Given the description of an element on the screen output the (x, y) to click on. 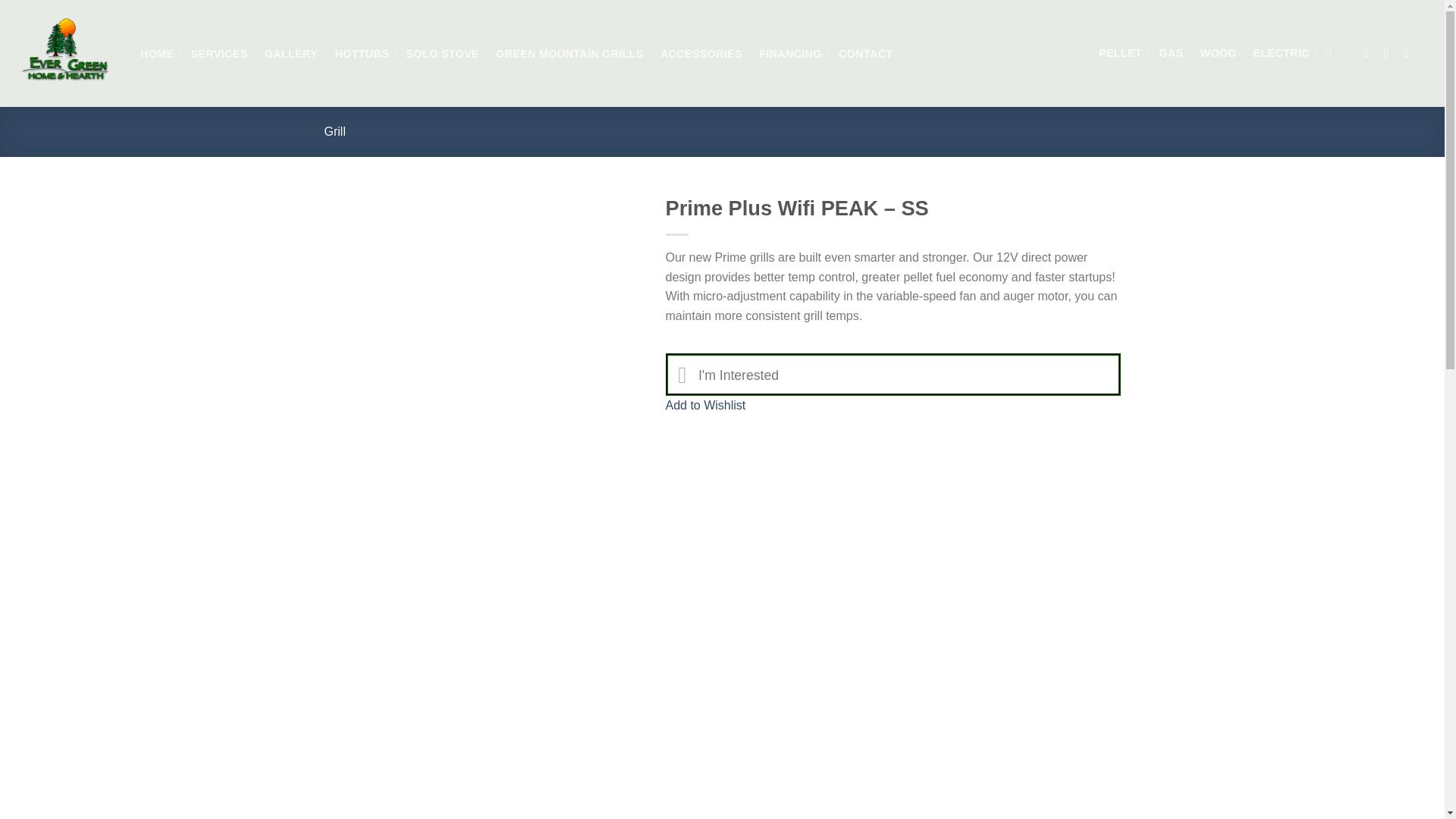
SOLO STOVE (442, 52)
Add to Wishlist (705, 404)
WOOD (1217, 52)
GREEN MOUNTAIN GRILLS (569, 52)
ACCESSORIES (701, 52)
FINANCING (790, 52)
HOME (156, 52)
HOTTUBS (362, 52)
PELLET (1120, 52)
GALLERY (290, 52)
